Given the description of an element on the screen output the (x, y) to click on. 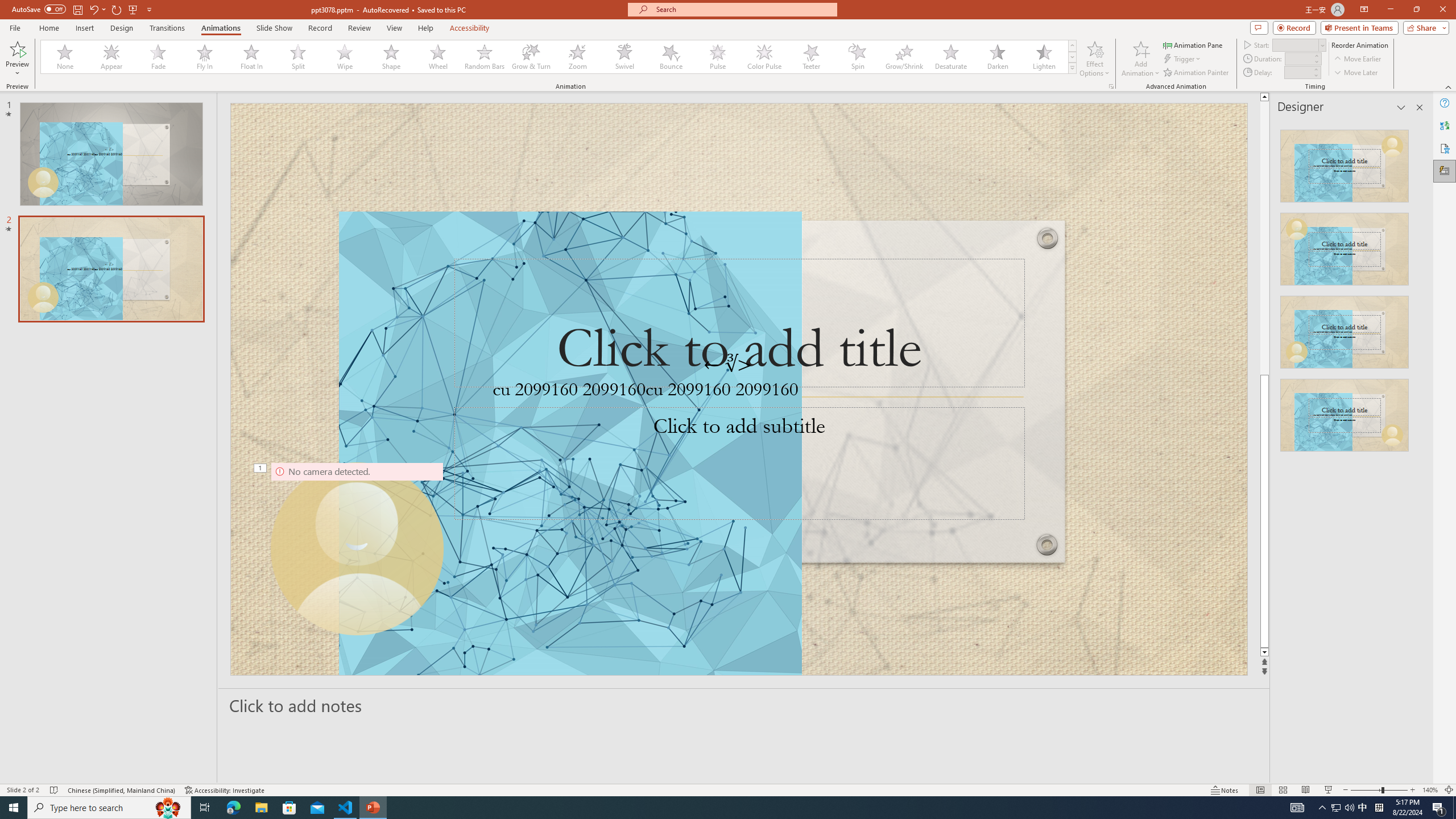
Zoom 140% (1430, 790)
Swivel (624, 56)
Float In (251, 56)
